Given the description of an element on the screen output the (x, y) to click on. 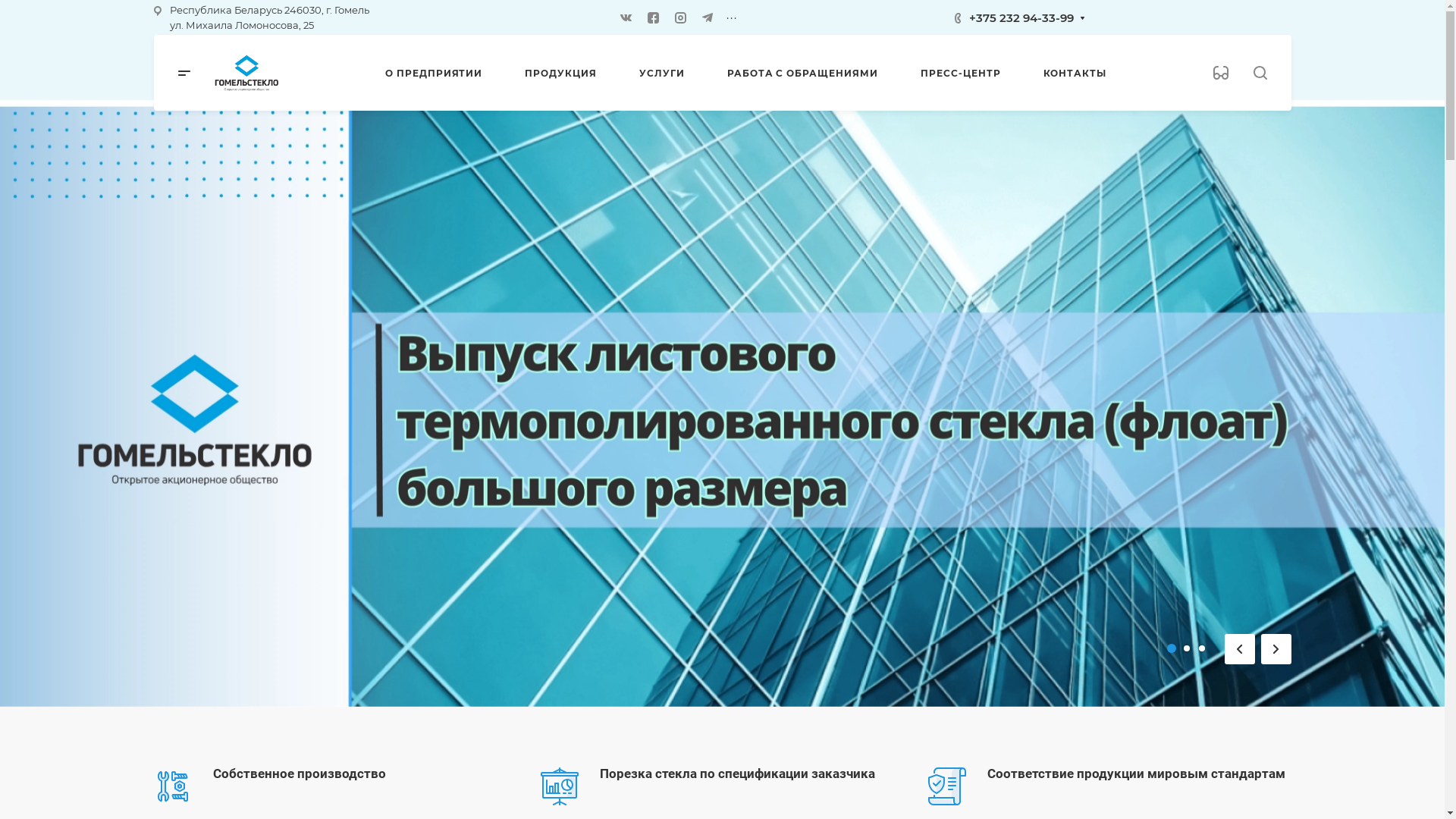
Telegram Element type: hover (707, 17)
+375 232 94-33-99 Element type: text (1021, 16)
Instagram Element type: hover (679, 17)
Facebook Element type: hover (652, 17)
